Given the description of an element on the screen output the (x, y) to click on. 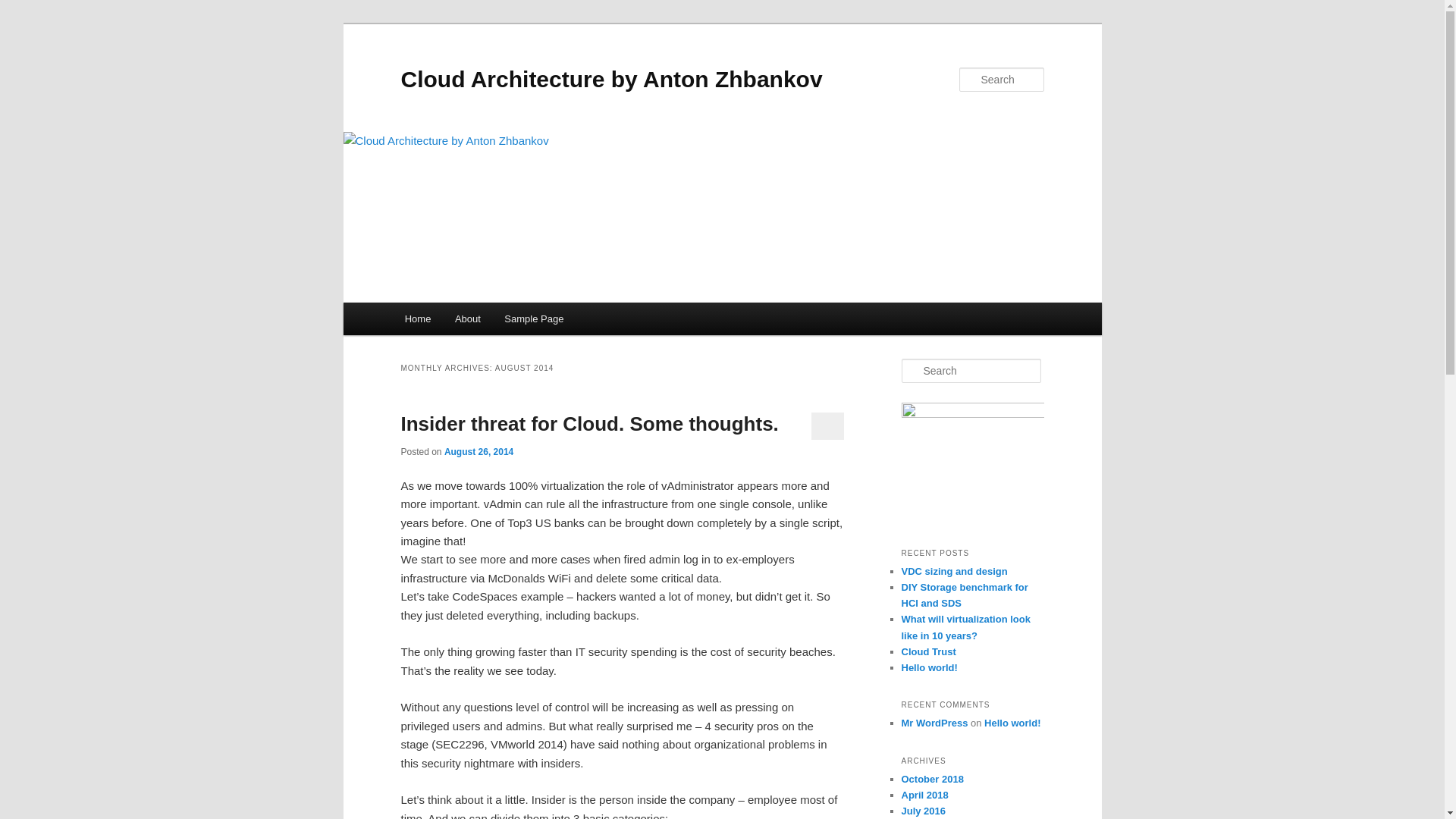
About (467, 318)
Hello world! (928, 667)
VDC sizing and design (954, 571)
April 2018 (924, 794)
Search (21, 11)
6:50 pm (478, 451)
July 2016 (922, 810)
Insider threat for Cloud. Some thoughts. (588, 423)
October 2018 (931, 778)
What will virtualization look like in 10 years? (965, 626)
